Given the description of an element on the screen output the (x, y) to click on. 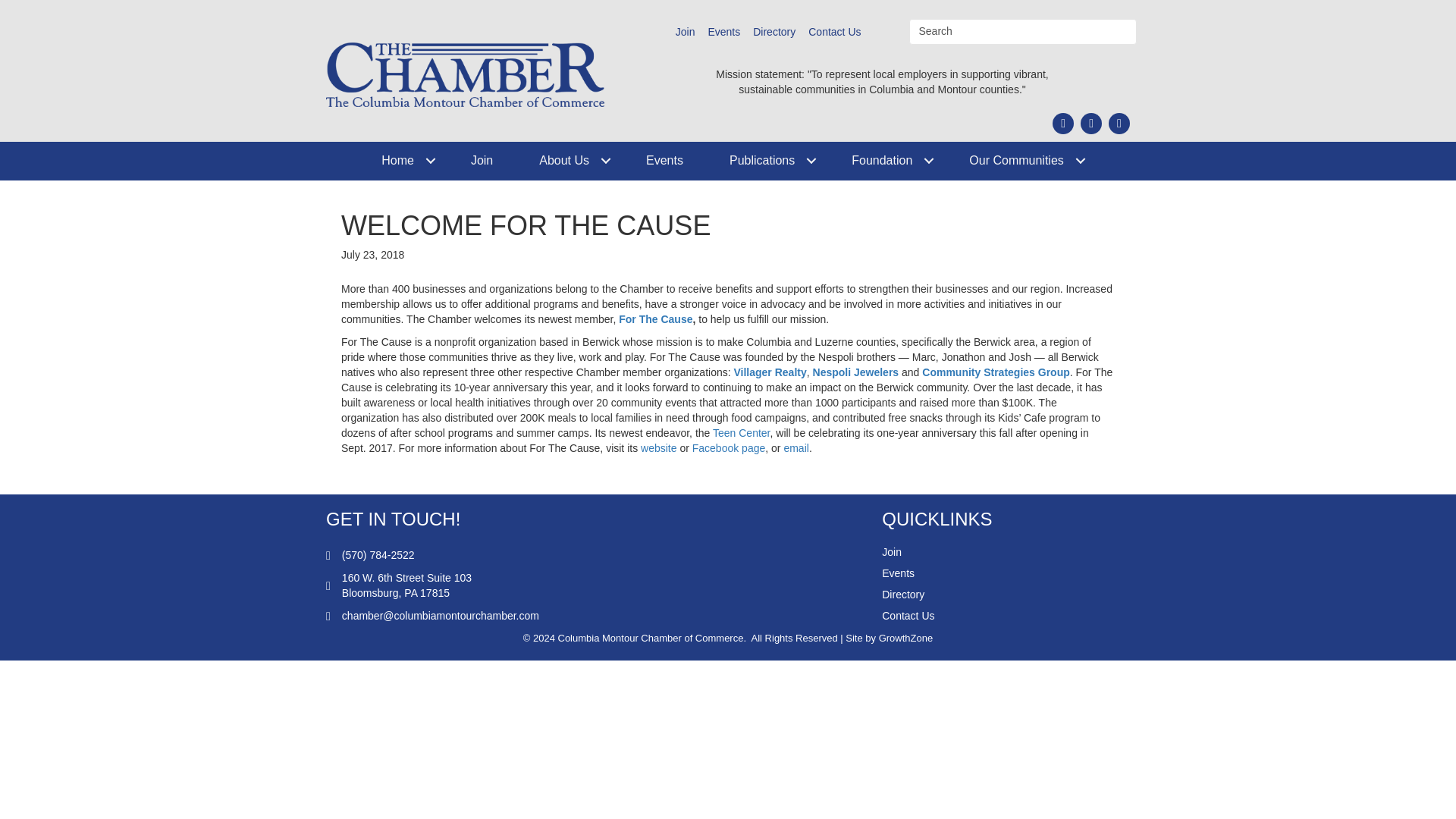
Foundation (886, 160)
Events (723, 32)
Home (402, 160)
Contact Us (834, 32)
Publications (767, 160)
Join (685, 32)
Events (664, 160)
Join (481, 160)
Directory (774, 32)
About Us (569, 160)
Our Communities (1021, 160)
